Given the description of an element on the screen output the (x, y) to click on. 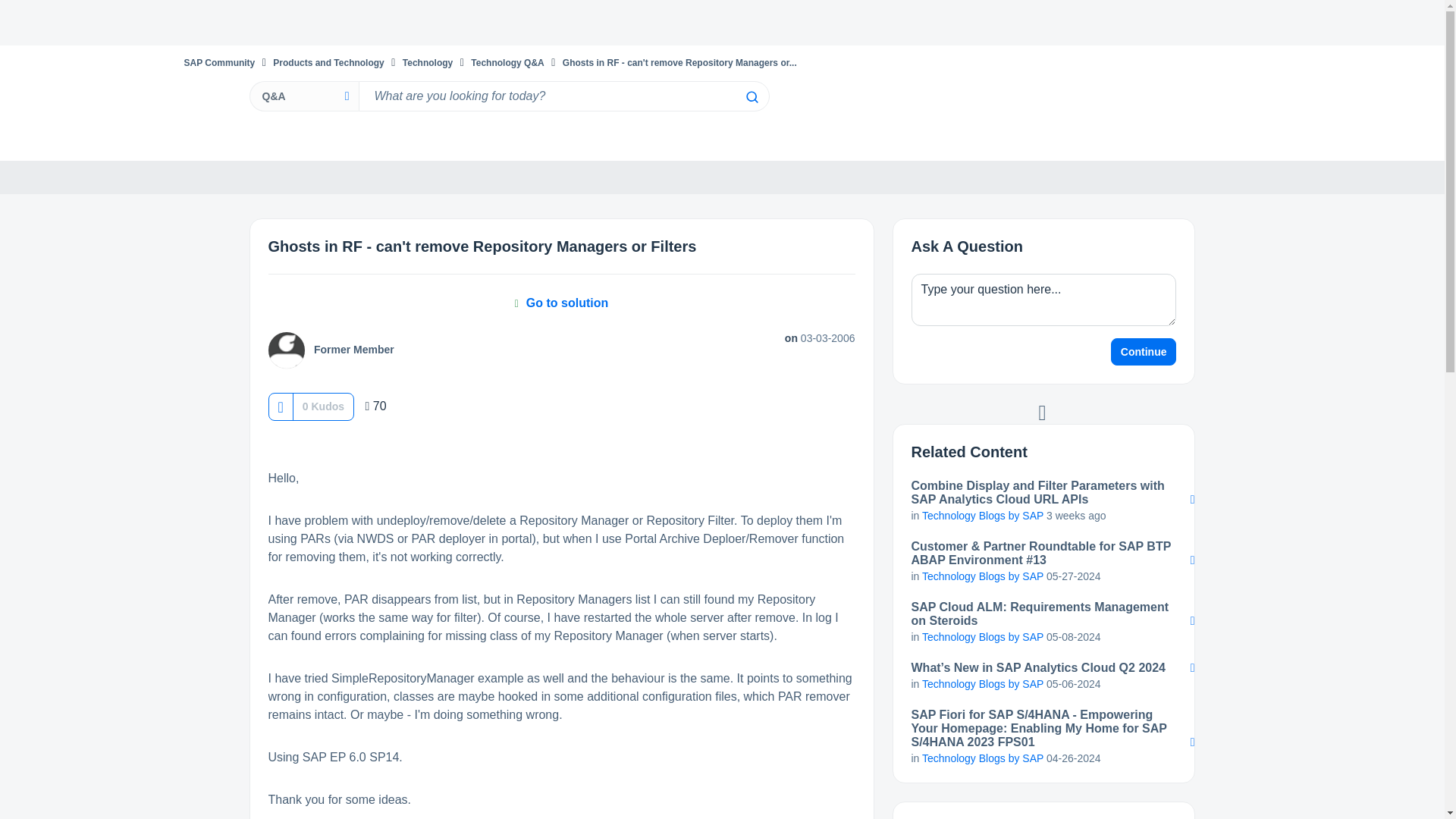
The total number of kudos this post has received. (323, 406)
Technology (427, 62)
Search (563, 96)
Products and Technology (328, 62)
Search (750, 96)
Search Granularity (303, 96)
Search (750, 96)
Go to solution (561, 302)
Continue (1143, 351)
Search (750, 96)
Click here to give kudos to this post. (279, 406)
SAP Community (218, 62)
